Given the description of an element on the screen output the (x, y) to click on. 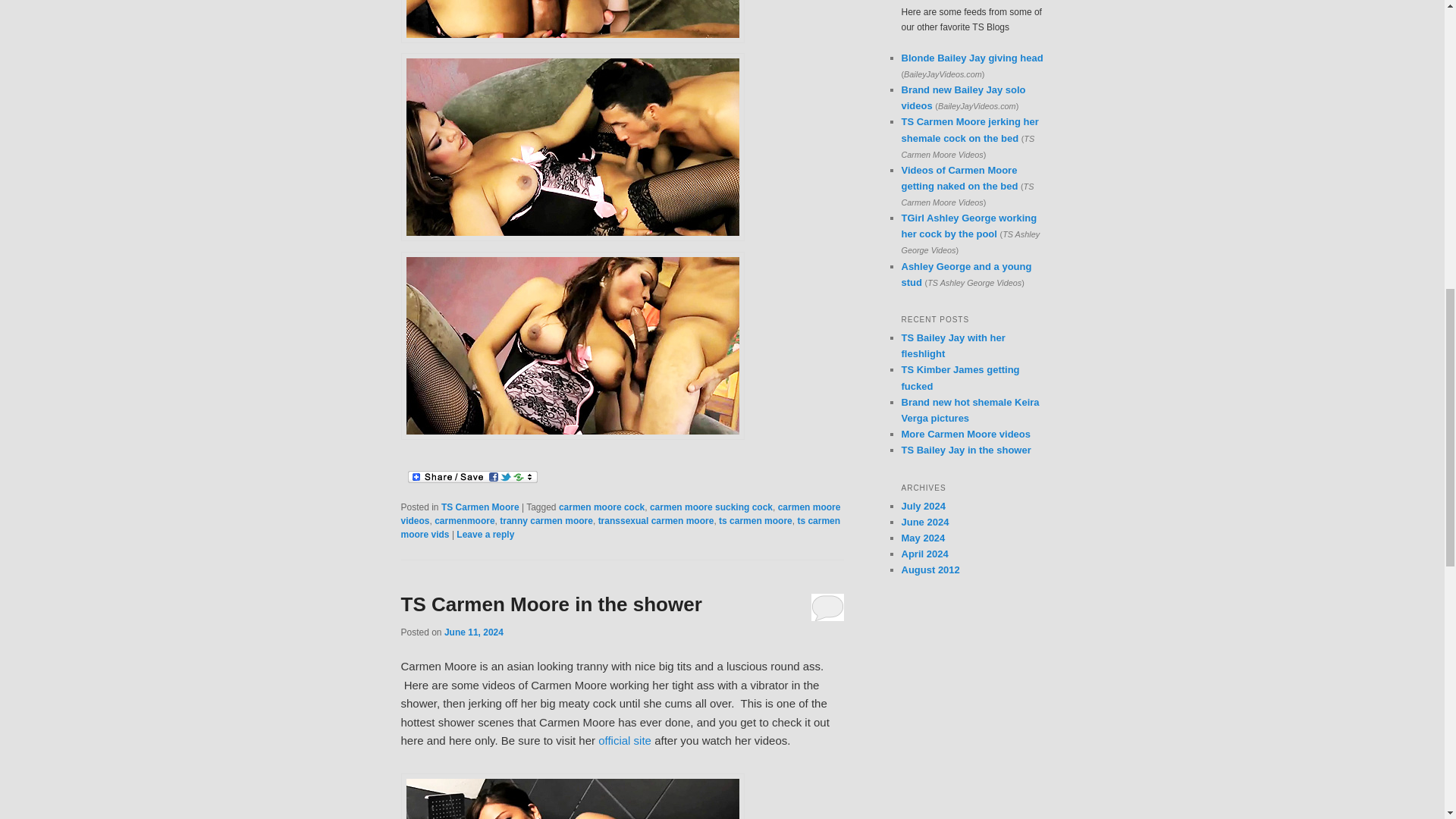
Permalink to TS Carmen Moore in the shower (550, 603)
TS Carmen Moore (480, 507)
carmenmoore (464, 520)
carmen moore sucking cock (711, 507)
carmen moore videos (620, 514)
transsexual carmen moore (656, 520)
carmen moore titty fuck videos (572, 21)
official site (624, 739)
tranny carmen moore (545, 520)
TS Carmen Moore in the shower (550, 603)
